Given the description of an element on the screen output the (x, y) to click on. 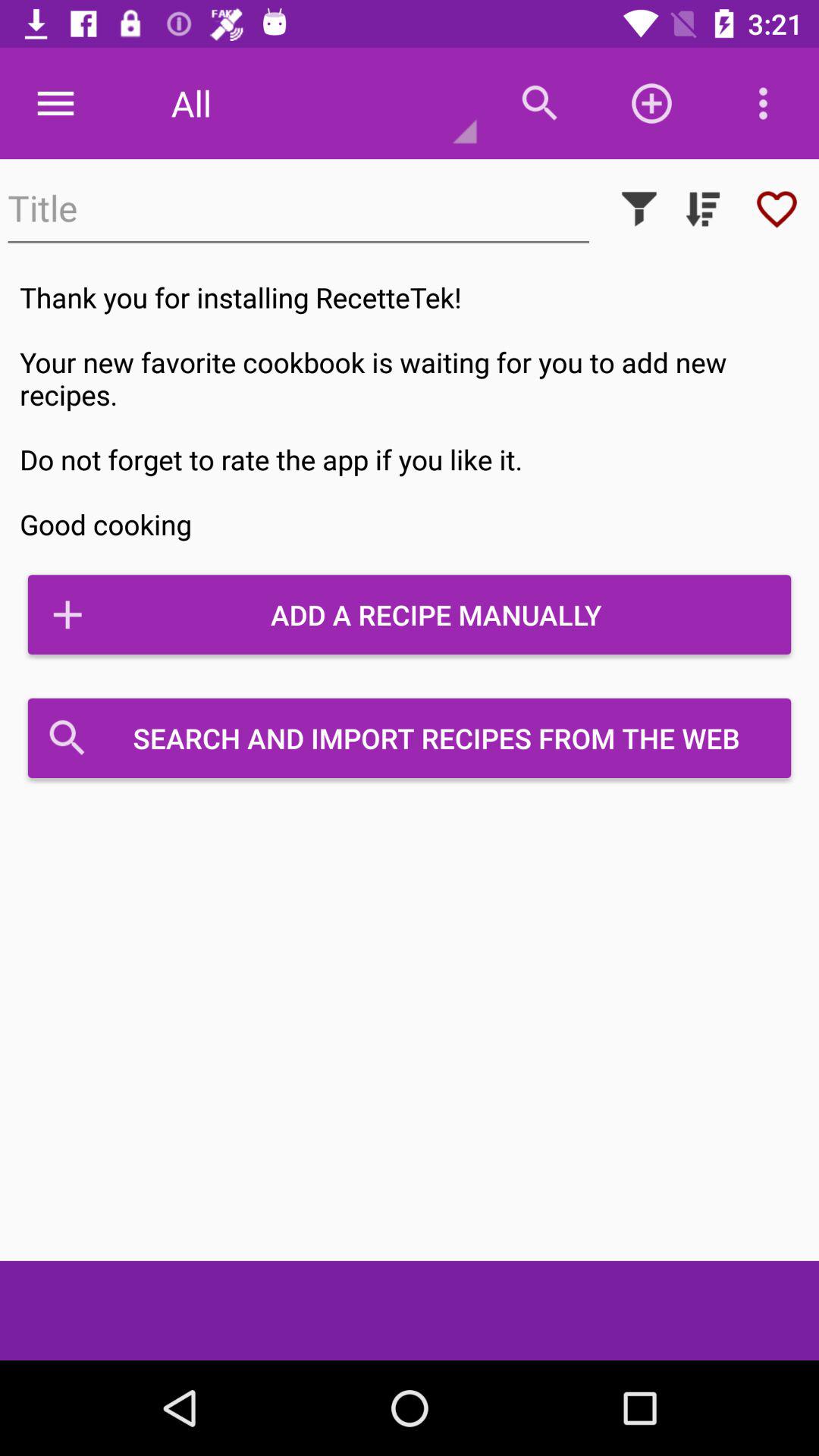
tap the item at the top left corner (55, 103)
